Given the description of an element on the screen output the (x, y) to click on. 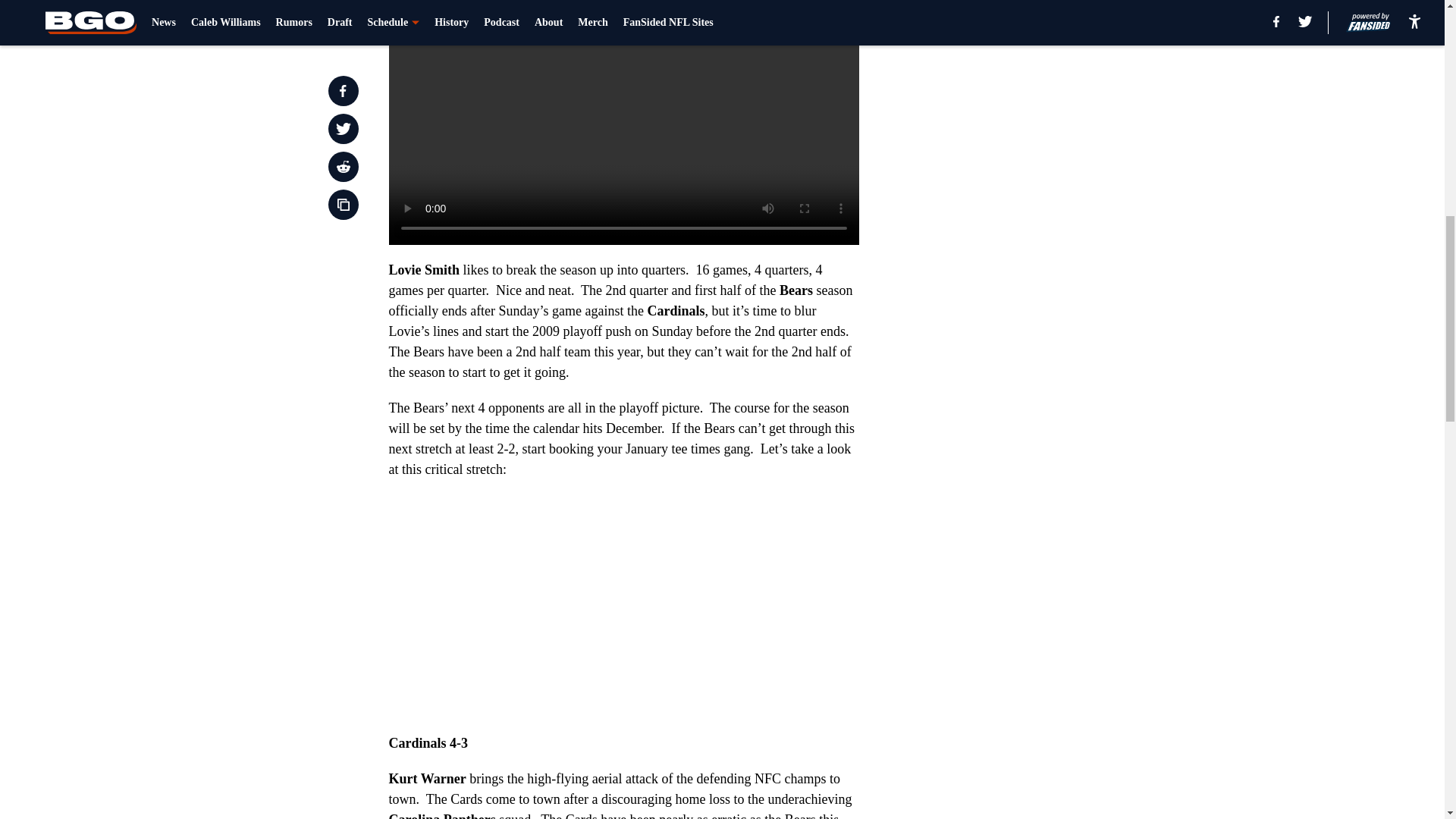
3rd party ad content (1047, 294)
3rd party ad content (1047, 84)
